Given the description of an element on the screen output the (x, y) to click on. 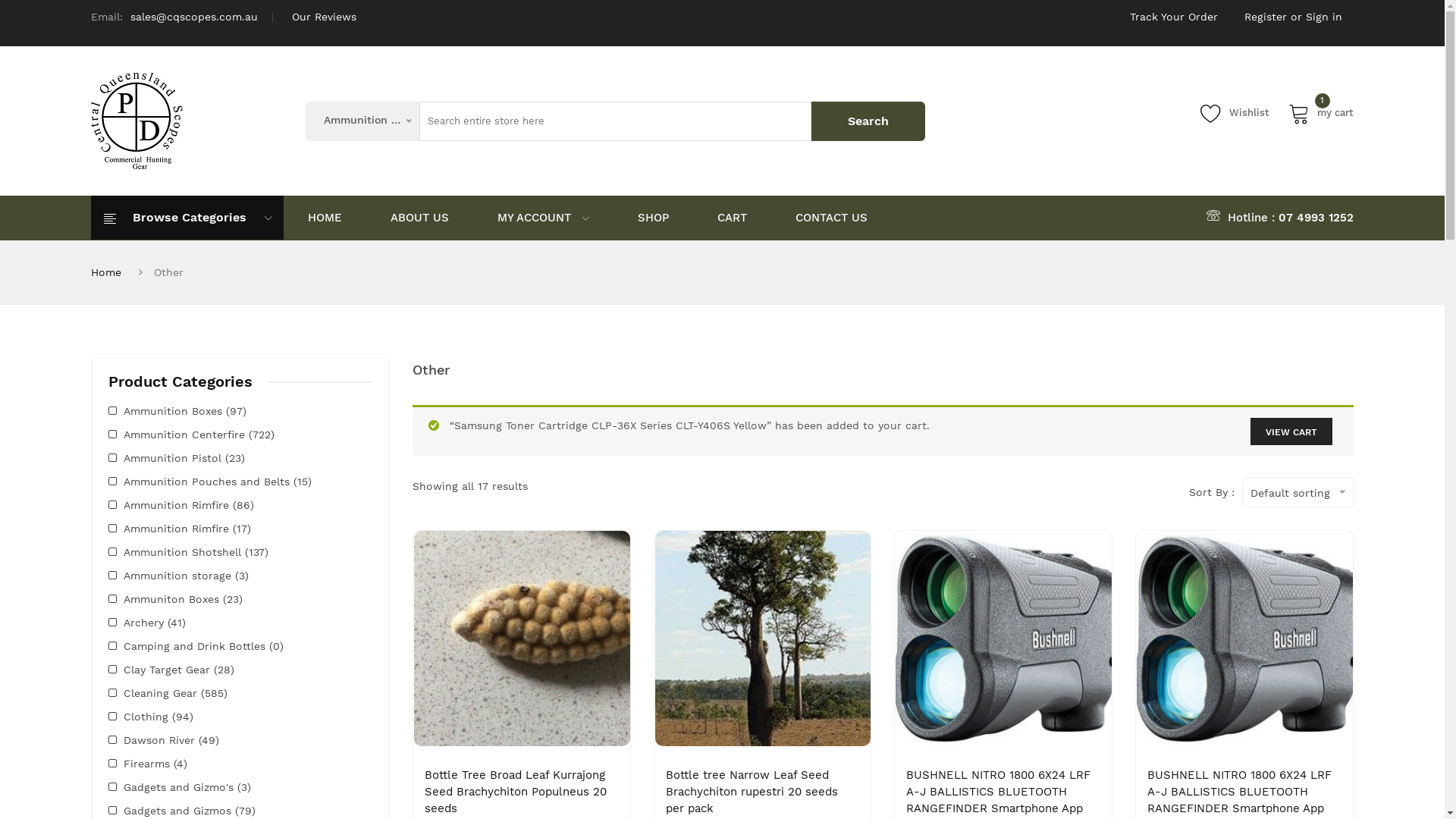
Ammunition Rimfire Element type: text (168, 527)
Ammuniton Boxes Element type: text (163, 599)
Ammunition Boxes Element type: text (165, 410)
HOME Element type: text (324, 217)
ABOUT US Element type: text (419, 217)
SHOP Element type: text (653, 217)
MY ACCOUNT Element type: text (543, 217)
Our Reviews Element type: text (323, 16)
VIEW CART Element type: text (1291, 430)
Gadgets and Gizmo's Element type: text (170, 787)
Ammunition Centerfire Element type: text (176, 433)
Ammunition Pistol Element type: text (164, 457)
Cleaning Gear Element type: text (152, 693)
Dawson River Element type: text (151, 740)
Ammunition Rimfire Element type: text (168, 504)
Clothing Element type: text (138, 715)
CONTACT US Element type: text (831, 217)
Ammunition storage Element type: text (169, 574)
1
my cart Element type: text (1320, 112)
Track Your Order Element type: text (1173, 17)
Ammunition Pouches and Belts Element type: text (198, 480)
Register or Sign in Element type: text (1293, 17)
Wishlist Element type: text (1234, 112)
Camping and Drink Bottles Element type: text (186, 646)
Search Element type: text (868, 121)
Ammunition Shotshell Element type: text (174, 552)
CART Element type: text (732, 217)
sales@cqscopes.com.au Element type: text (193, 16)
Archery Element type: text (135, 621)
Firearms Element type: text (138, 762)
Clay Target Gear Element type: text (159, 668)
Home Element type: text (106, 271)
Gadgets and Gizmos Element type: text (169, 809)
